Given the description of an element on the screen output the (x, y) to click on. 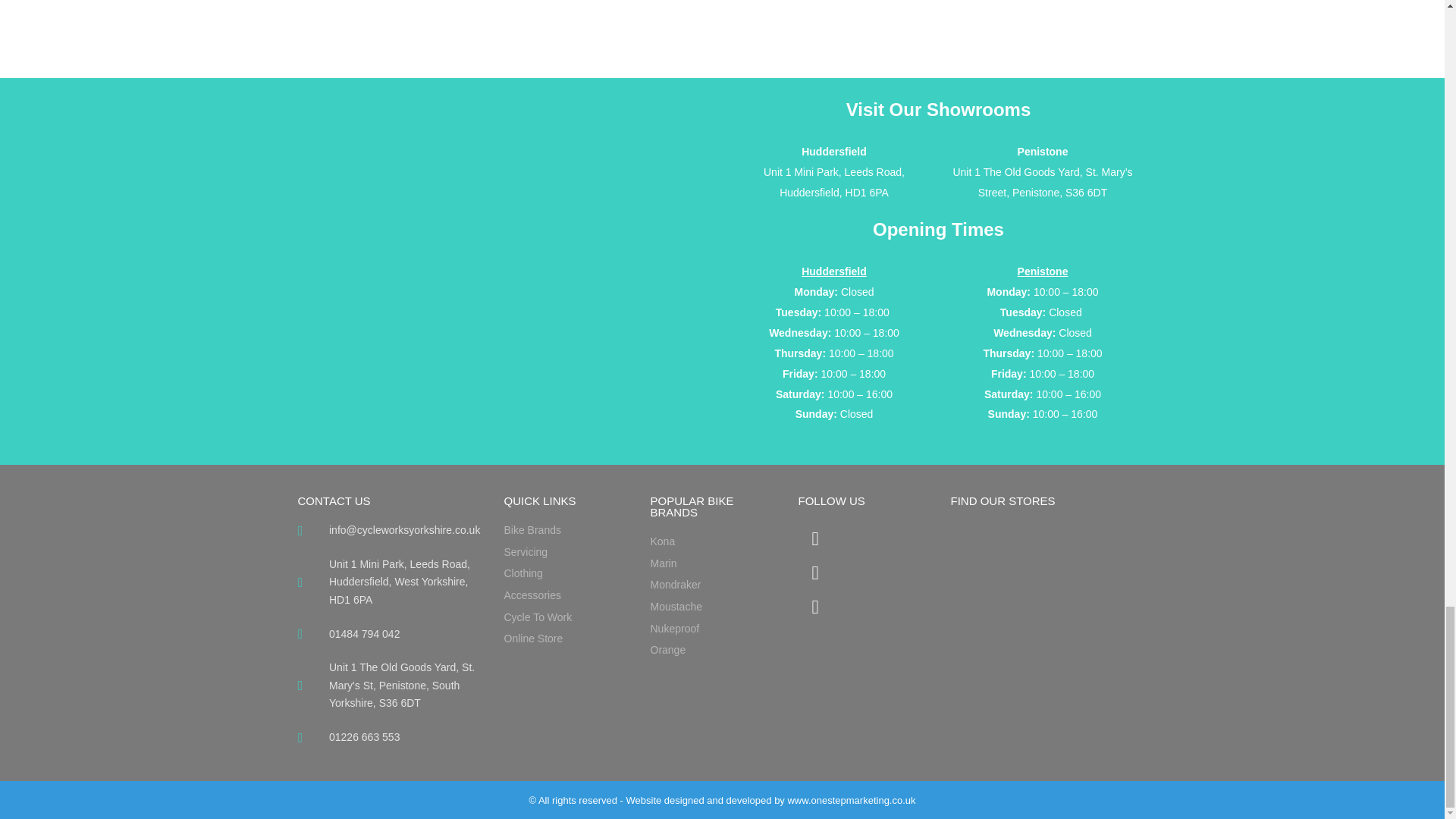
Cycle Works Yorkshire (1048, 574)
